Given the description of an element on the screen output the (x, y) to click on. 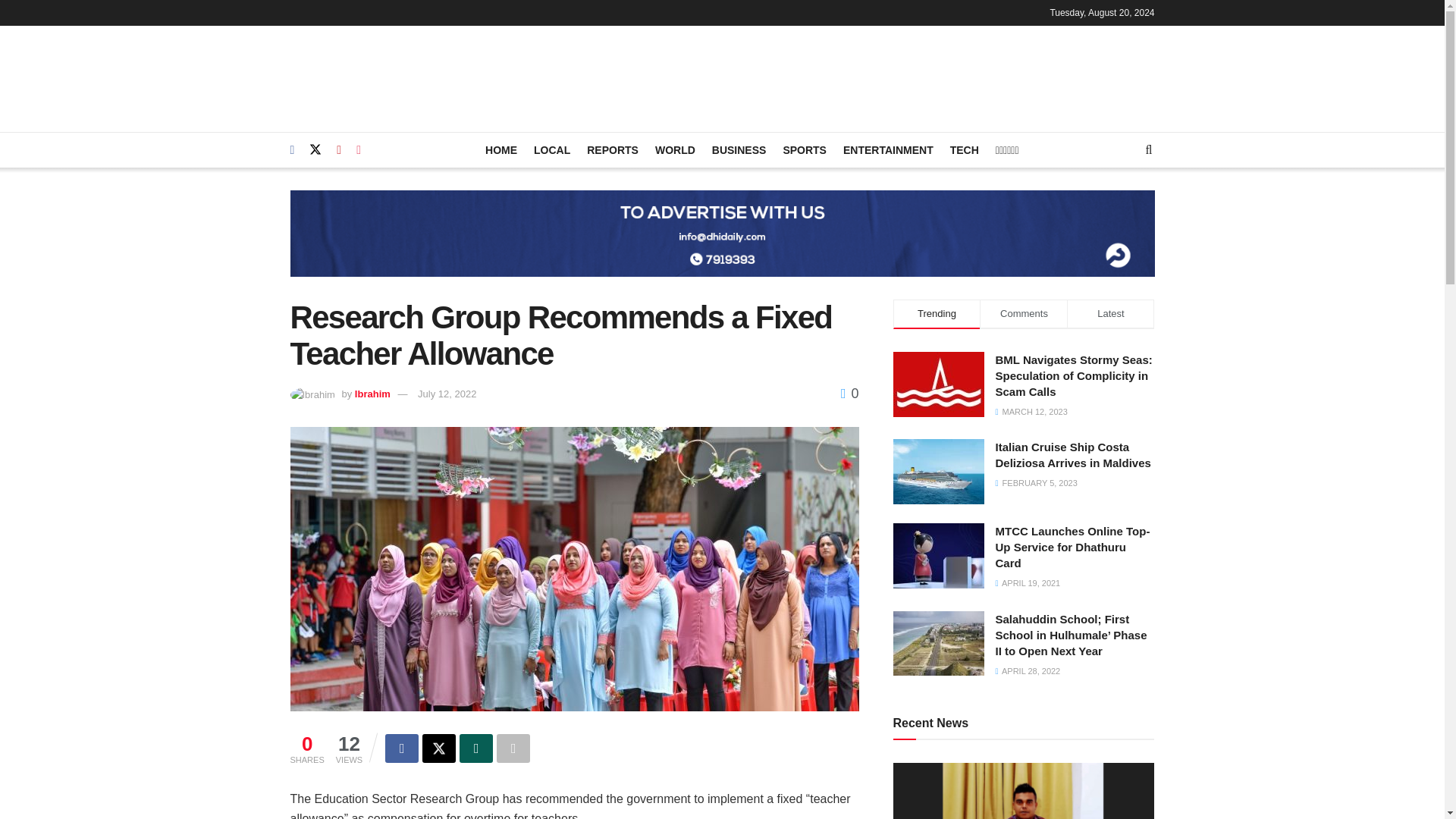
SPORTS (805, 149)
TECH (964, 149)
0 (850, 393)
WORLD (675, 149)
LOCAL (552, 149)
July 12, 2022 (446, 393)
REPORTS (612, 149)
HOME (500, 149)
ENTERTAINMENT (888, 149)
Ibrahim (372, 393)
